Given the description of an element on the screen output the (x, y) to click on. 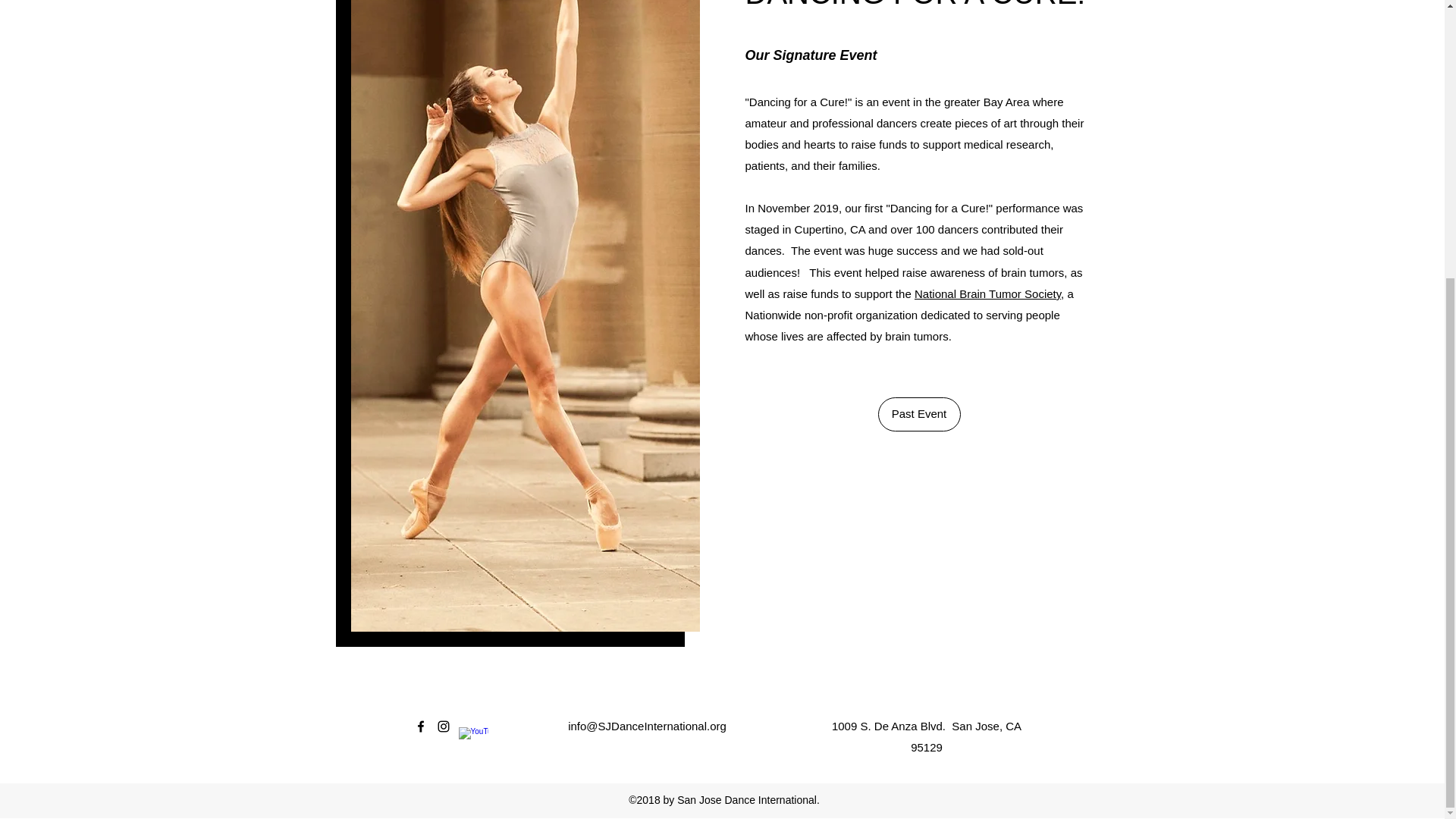
National Brain Tumor Society (987, 293)
Past Event (918, 414)
